Given the description of an element on the screen output the (x, y) to click on. 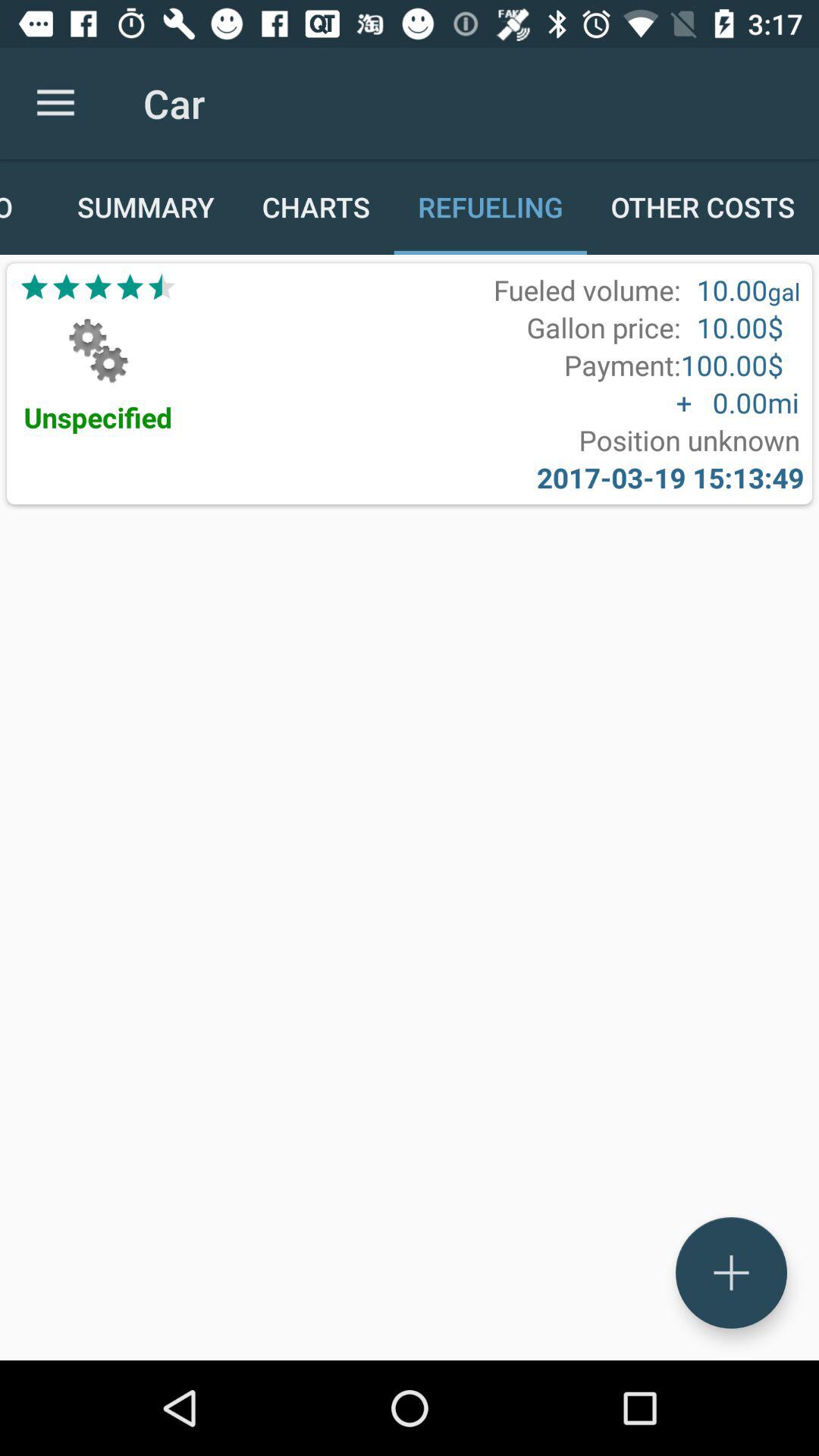
launch the icon to the left of the position unknown icon (97, 417)
